Given the description of an element on the screen output the (x, y) to click on. 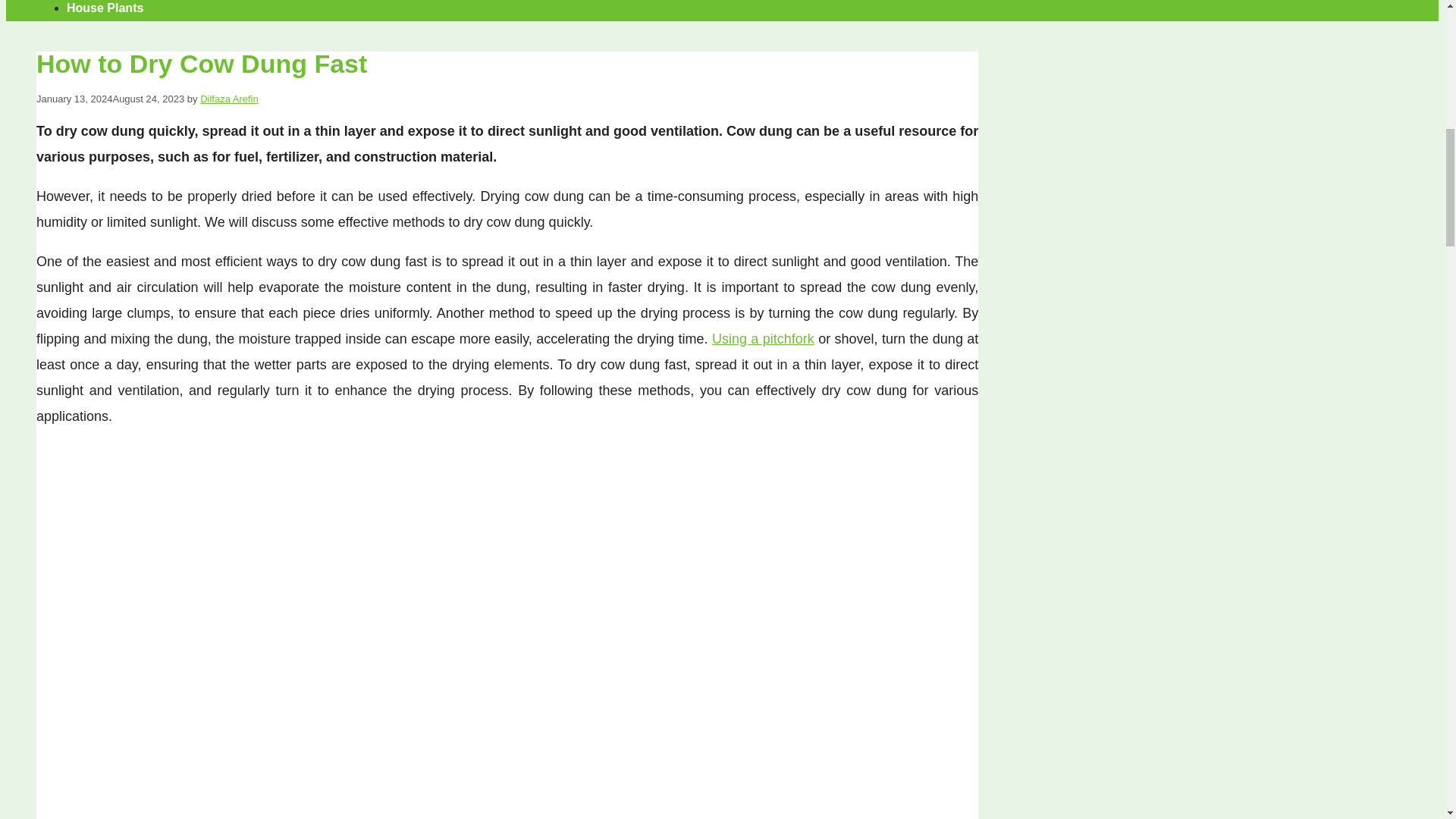
Using a pitchfork (762, 338)
Scroll back to top (1406, 720)
Dilfaza Arefin (229, 98)
House Plants (104, 7)
View all posts by Dilfaza Arefin (229, 98)
